Given the description of an element on the screen output the (x, y) to click on. 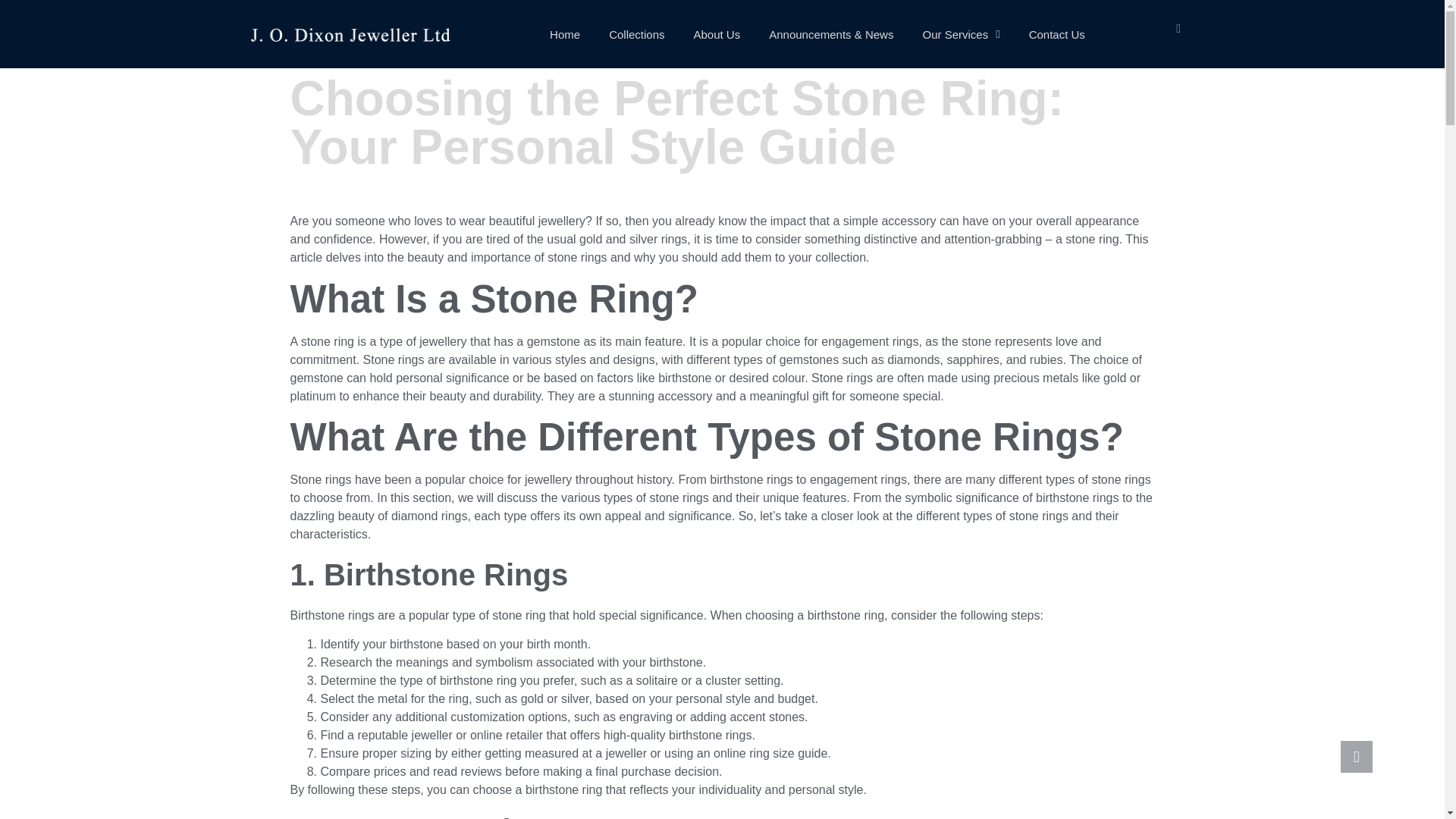
Collections (635, 34)
Our Services (959, 34)
About Us (716, 34)
Contact Us (1056, 34)
